Given the description of an element on the screen output the (x, y) to click on. 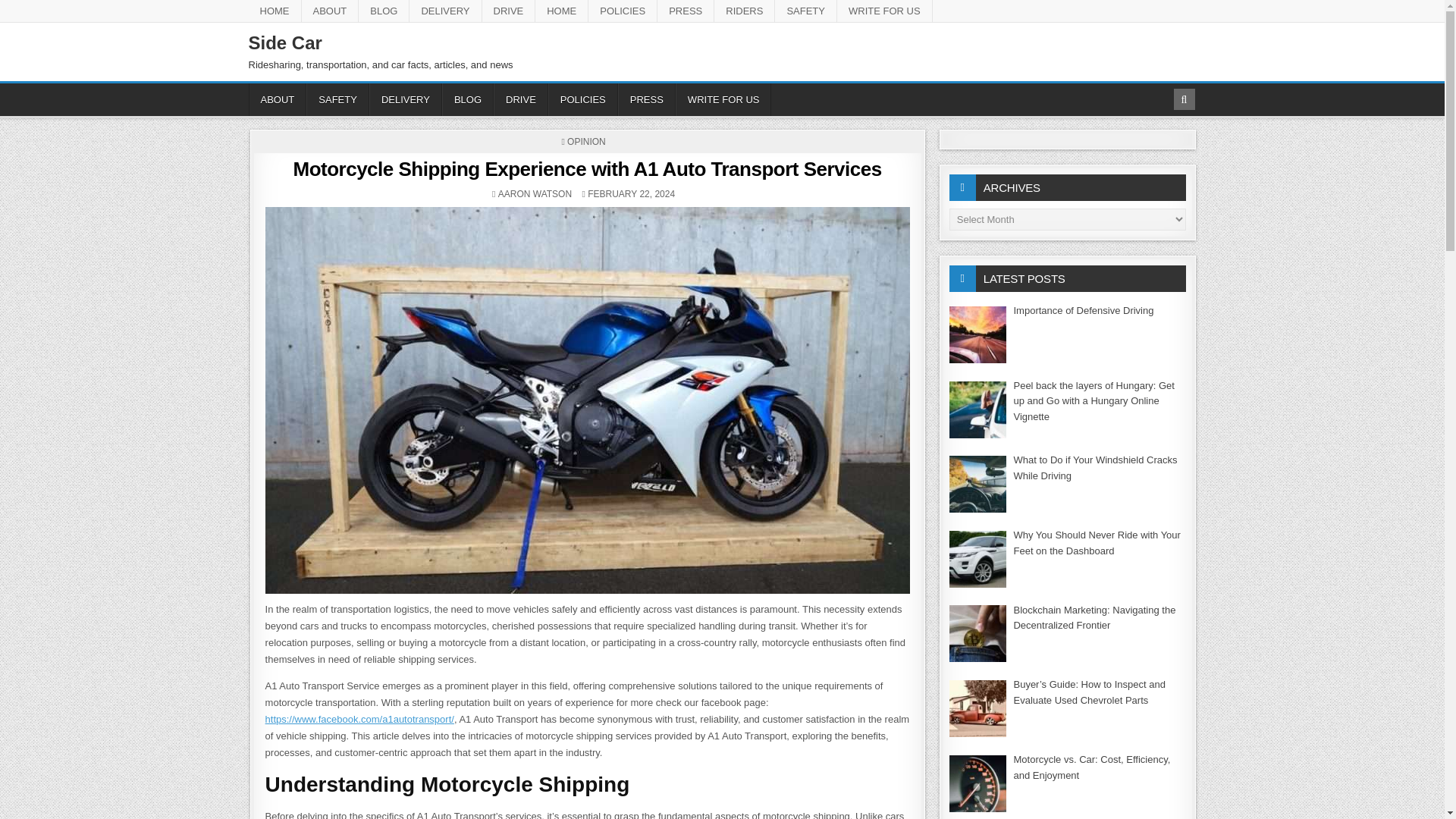
WRITE FOR US (885, 11)
DRIVE (520, 99)
Why You Should Never Ride with Your Feet on the Dashboard (1096, 542)
DRIVE (508, 11)
DELIVERY (405, 99)
DELIVERY (445, 11)
What to Do if Your Windshield Cracks While Driving (1094, 467)
ABOUT (330, 11)
RIDERS (744, 11)
BLOG (383, 11)
Side Car (284, 42)
AARON WATSON (534, 194)
SAFETY (805, 11)
